Given the description of an element on the screen output the (x, y) to click on. 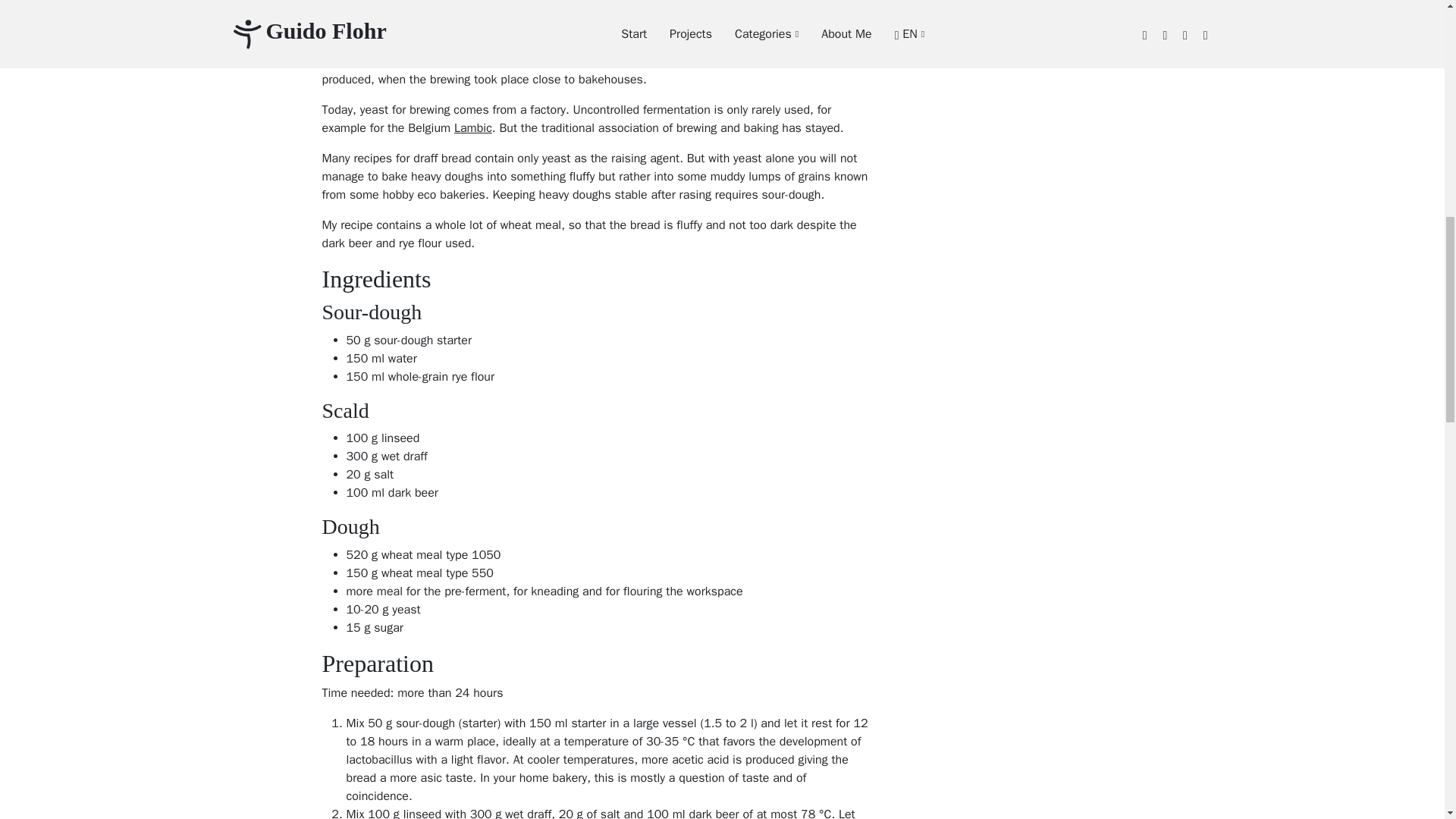
Lambic (473, 127)
